Given the description of an element on the screen output the (x, y) to click on. 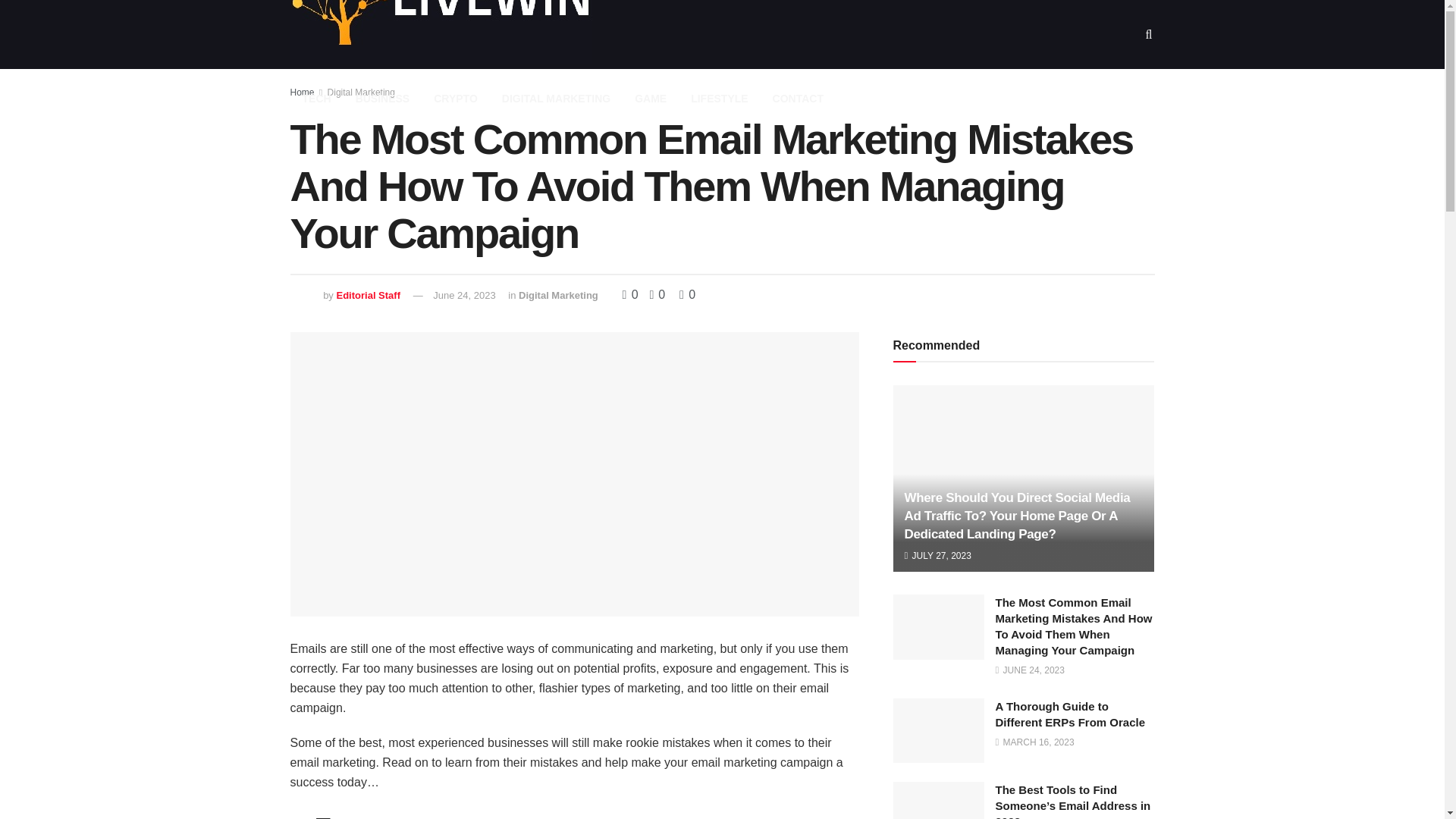
0 (687, 294)
DIGITAL MARKETING (556, 98)
CRYPTO (455, 98)
LIFESTYLE (719, 98)
0 (653, 294)
Home (301, 91)
Editorial Staff (368, 295)
0 (631, 294)
June 24, 2023 (463, 295)
CONTACT (797, 98)
